Given the description of an element on the screen output the (x, y) to click on. 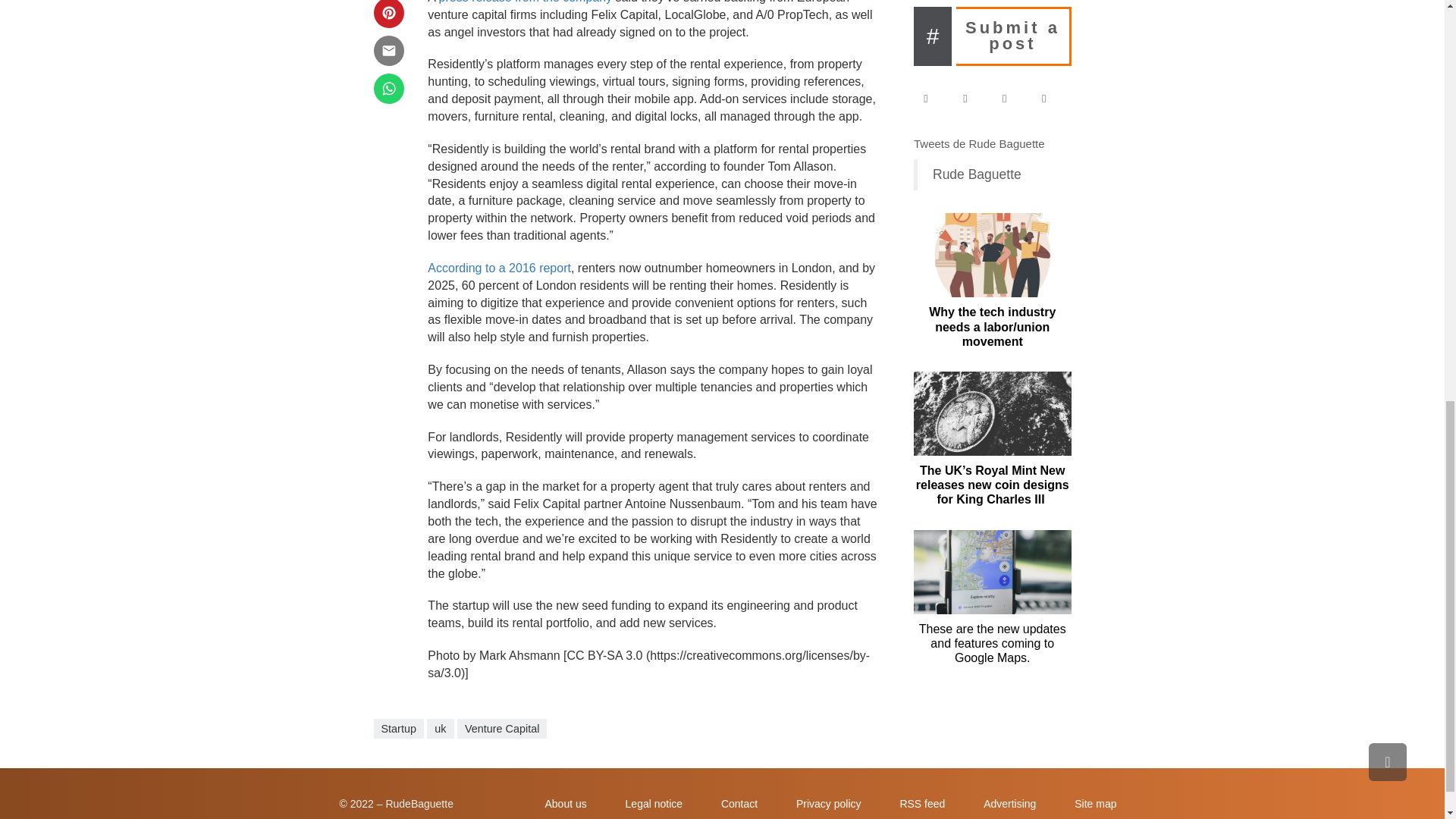
RSS (1050, 98)
According to a 2016 report (499, 267)
Tweets de Rude Baguette (979, 143)
Facebook (932, 98)
press release from the company (525, 2)
uk (439, 728)
Twitter (972, 98)
LinkedIn (1011, 98)
Startup (397, 728)
Venture Capital (502, 728)
Rude Baguette (977, 174)
